Given the description of an element on the screen output the (x, y) to click on. 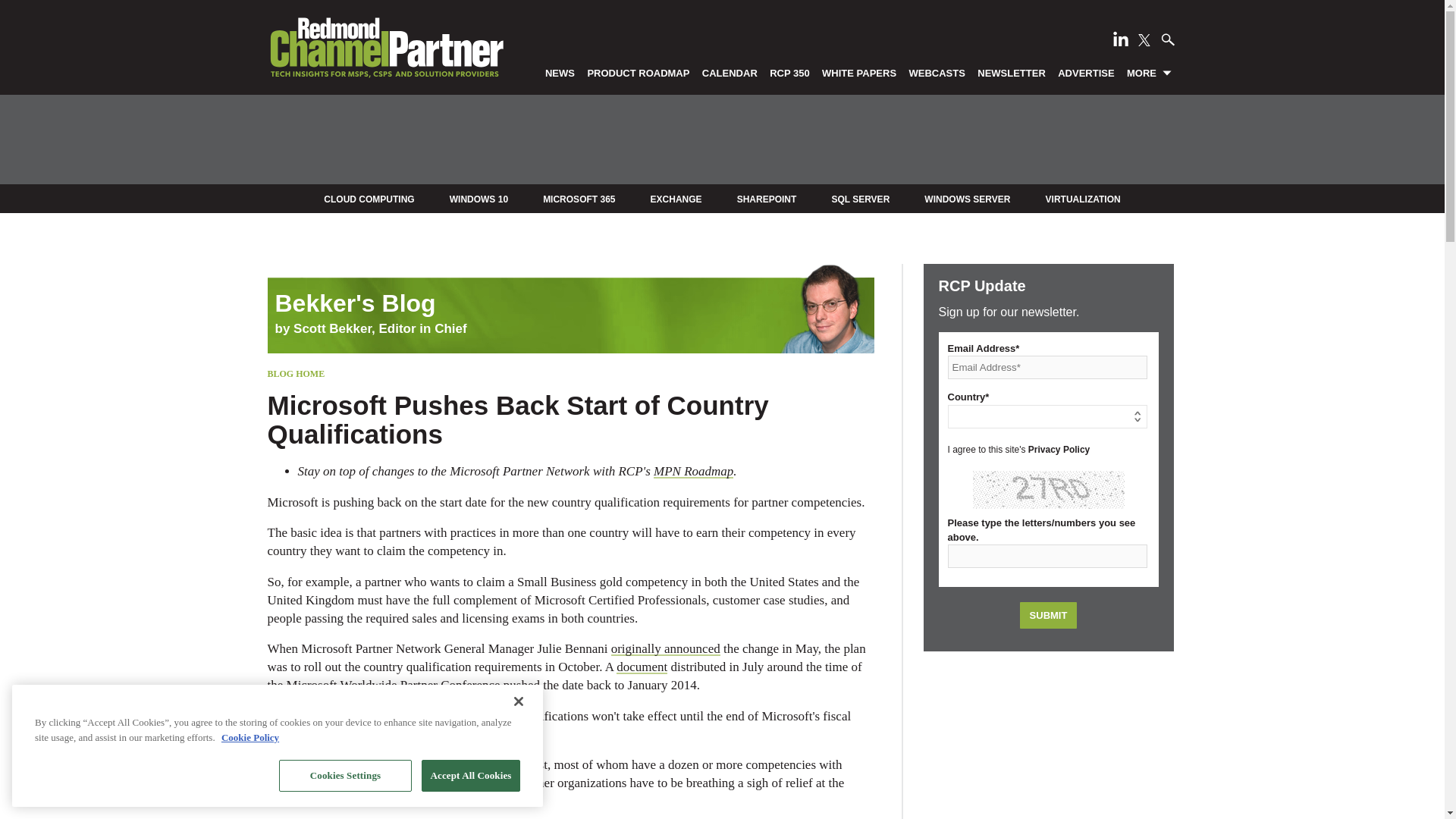
Submit (1048, 614)
CLOUD COMPUTING (368, 199)
originally announced (665, 648)
WEBCASTS (936, 72)
ADVERTISE (1085, 72)
MORE (1149, 72)
EXCHANGE (675, 199)
MICROSOFT 365 (578, 199)
CALENDAR (729, 72)
Blog archive (569, 291)
3rd party ad content (721, 140)
NEWS (559, 72)
PRODUCT ROADMAP (638, 72)
WHITE PAPERS (858, 72)
Most Competent Partner (459, 764)
